Given the description of an element on the screen output the (x, y) to click on. 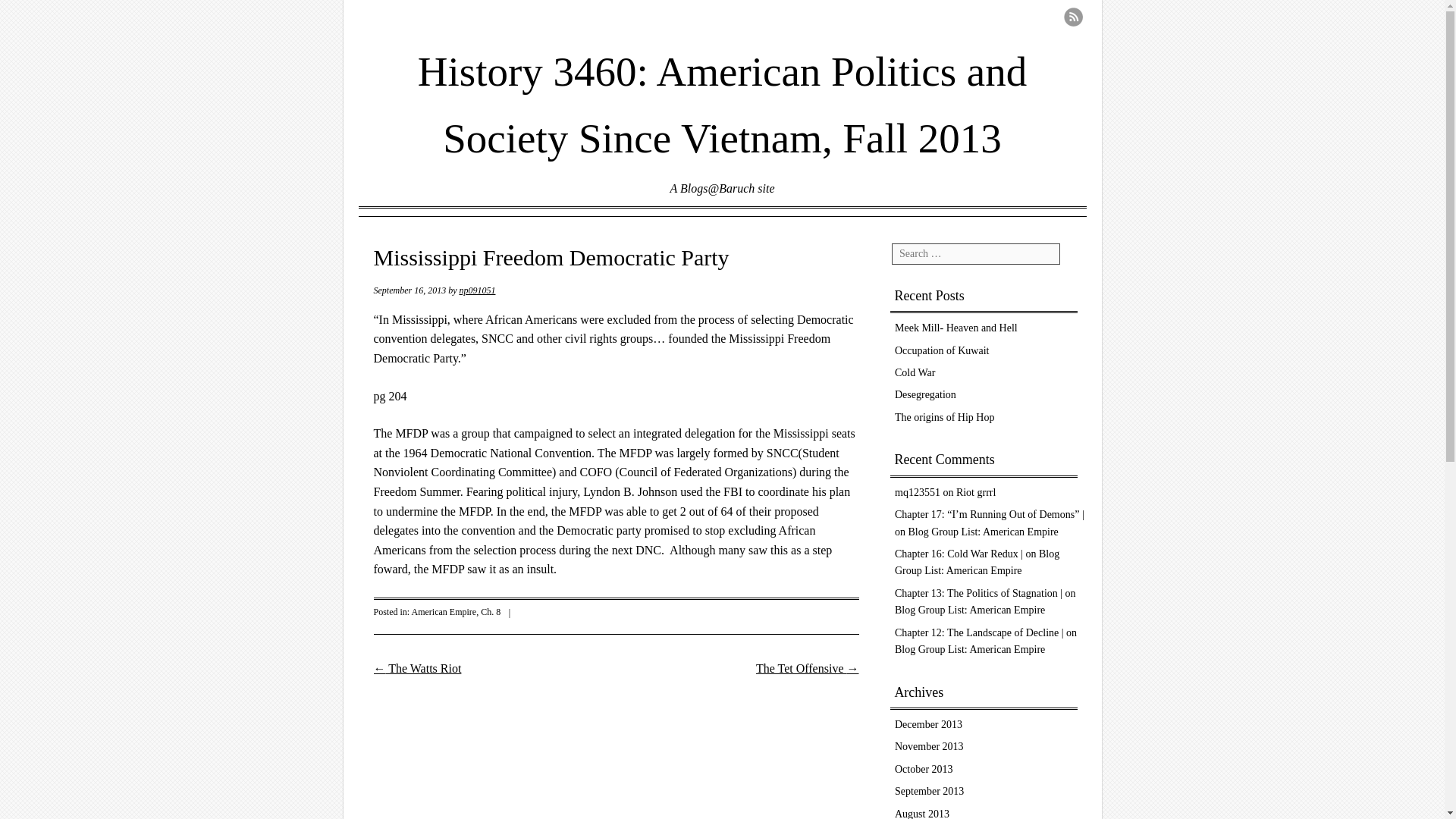
Blog Group List: American Empire (970, 649)
Occupation of Kuwait (941, 350)
RSS Feed (1071, 16)
Skip to content (415, 233)
August 2013 (922, 813)
Riot grrrl (975, 491)
Meek Mill- Heaven and Hell (956, 327)
Desegregation (925, 394)
Blog Group List: American Empire (970, 609)
September 2013 (929, 790)
Blog Group List: American Empire (977, 561)
The origins of Hip Hop (944, 417)
np091051 (476, 290)
October 2013 (924, 768)
